Given the description of an element on the screen output the (x, y) to click on. 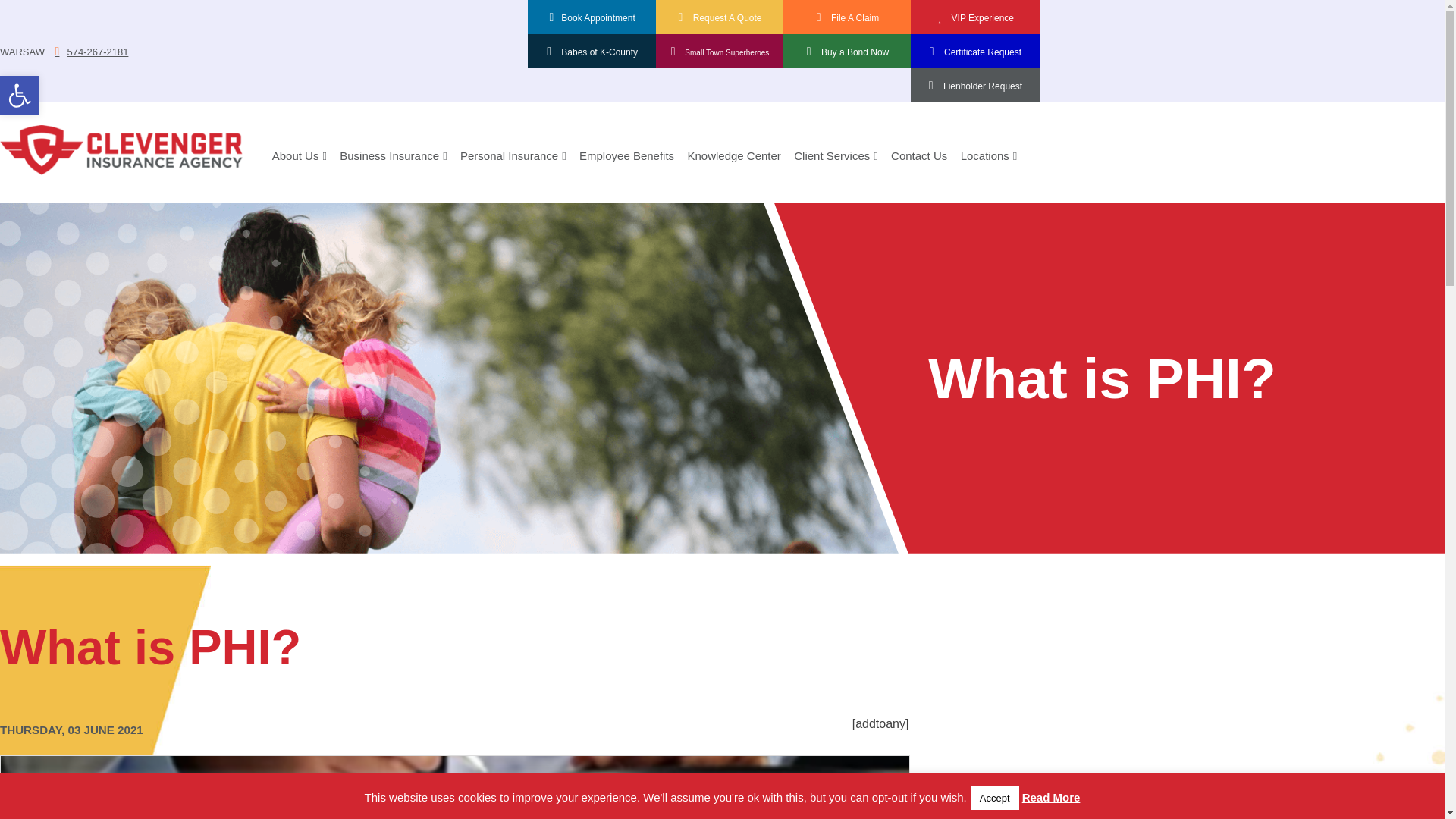
Buy a Bond Now (848, 50)
Accessibility Tools (19, 95)
VIP Experience (974, 15)
Certificate Request (974, 50)
File A Claim (848, 15)
Lienholder Request (974, 83)
Babes of K-County (591, 50)
Business Insurance (386, 156)
Small Town Superheroes (720, 50)
Accessibility Tools (19, 95)
Request A Quote (720, 15)
About Us (292, 156)
Book Appointment (19, 95)
574-267-2181 (591, 15)
